Given the description of an element on the screen output the (x, y) to click on. 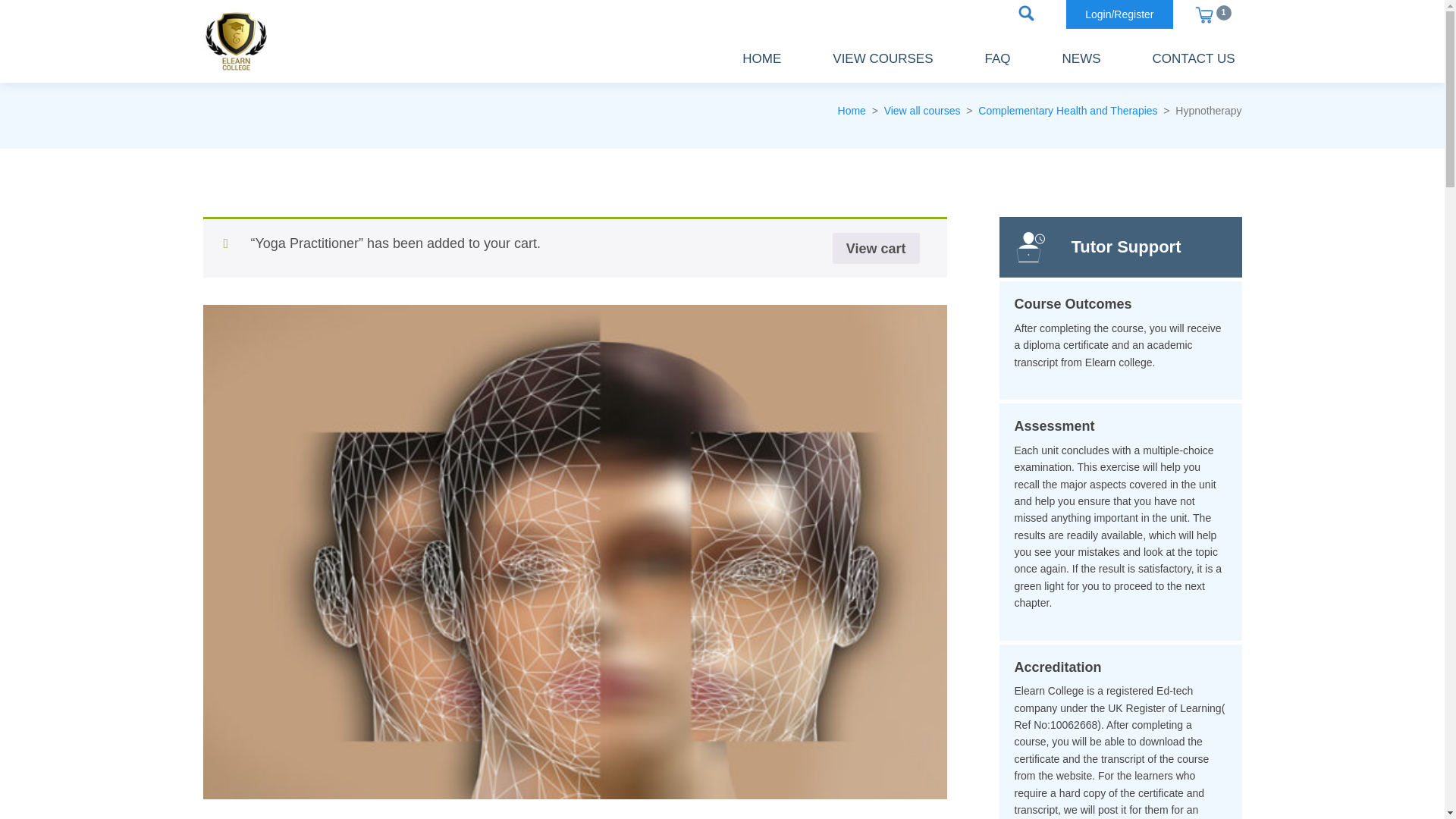
Complementary Health and Therapies (1067, 110)
Home (852, 110)
NEWS (1081, 58)
VIEW COURSES (882, 58)
HOME (761, 58)
CONTACT US (1193, 58)
FAQ (997, 58)
View all courses (921, 110)
View cart (876, 247)
